Given the description of an element on the screen output the (x, y) to click on. 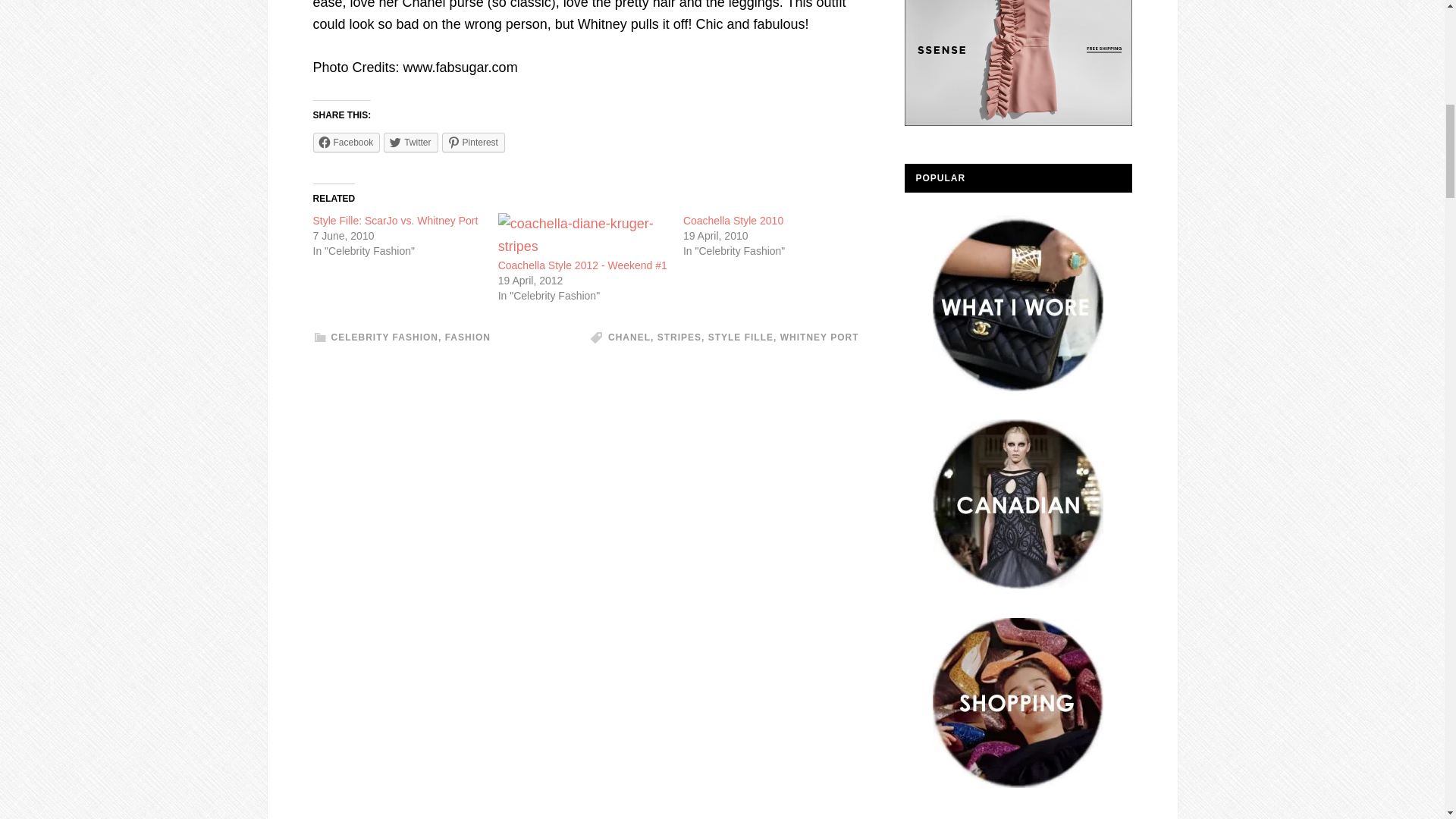
STRIPES (679, 337)
CHANEL (629, 337)
Click to share on Facebook (346, 142)
Style Fille: ScarJo vs. Whitney Port (395, 220)
Style Fille: ScarJo vs. Whitney Port (395, 220)
Click to share on Twitter (411, 142)
Coachella Style 2010 (732, 220)
Click to share on Pinterest (473, 142)
CELEBRITY FASHION (384, 337)
FASHION (467, 337)
